Given the description of an element on the screen output the (x, y) to click on. 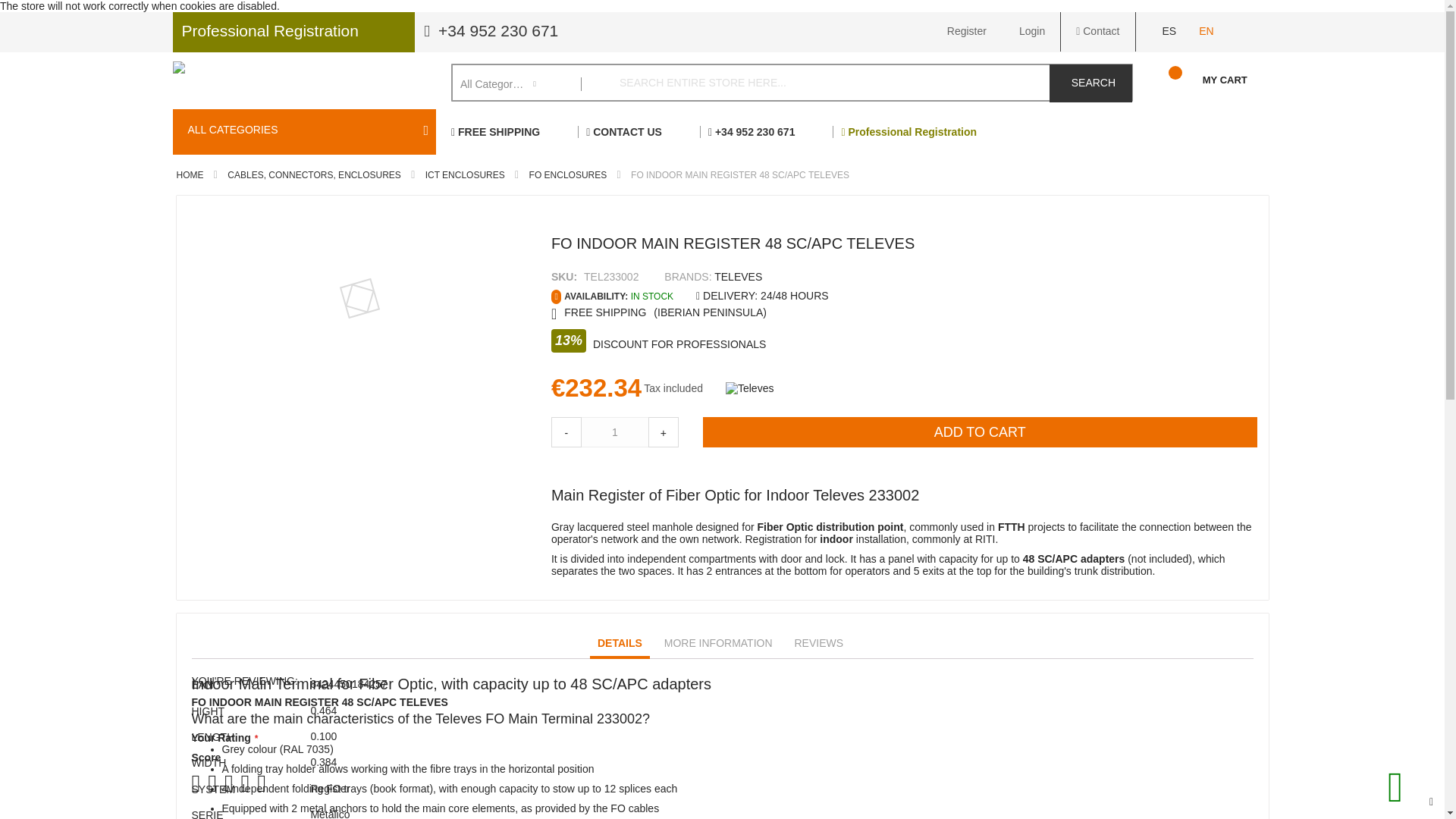
Televes (749, 387)
Qty (614, 431)
Availability (611, 296)
Add to Cart (980, 431)
4 stars (223, 783)
1 (614, 431)
Televes (737, 276)
Search (1090, 83)
